Given the description of an element on the screen output the (x, y) to click on. 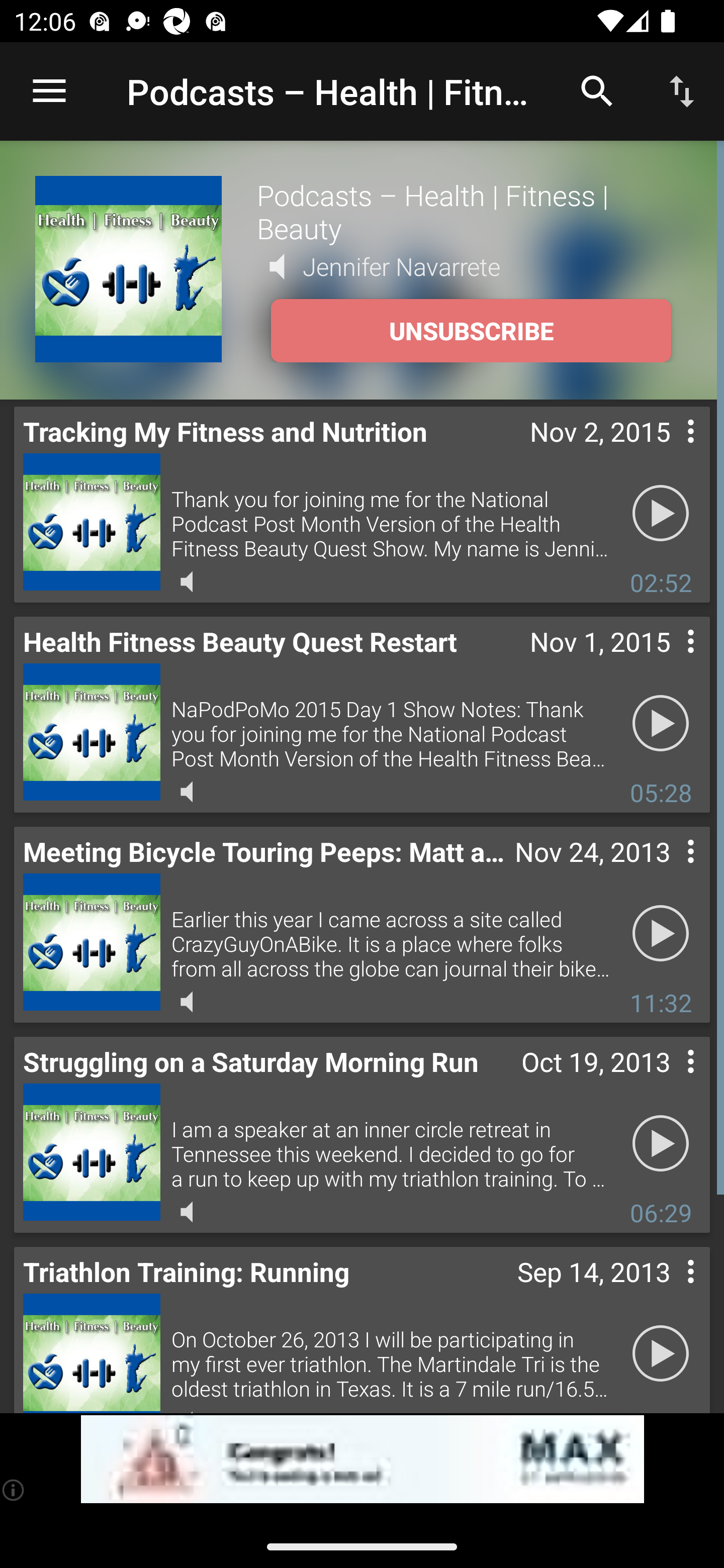
Open navigation sidebar (49, 91)
Search (597, 90)
Sort (681, 90)
UNSUBSCRIBE (470, 330)
Contextual menu (668, 451)
Play (660, 513)
Contextual menu (668, 661)
Play (660, 723)
Contextual menu (668, 870)
Play (660, 933)
Contextual menu (668, 1080)
Play (660, 1143)
Contextual menu (668, 1290)
Play (660, 1353)
app-monetization (362, 1459)
(i) (14, 1489)
